Given the description of an element on the screen output the (x, y) to click on. 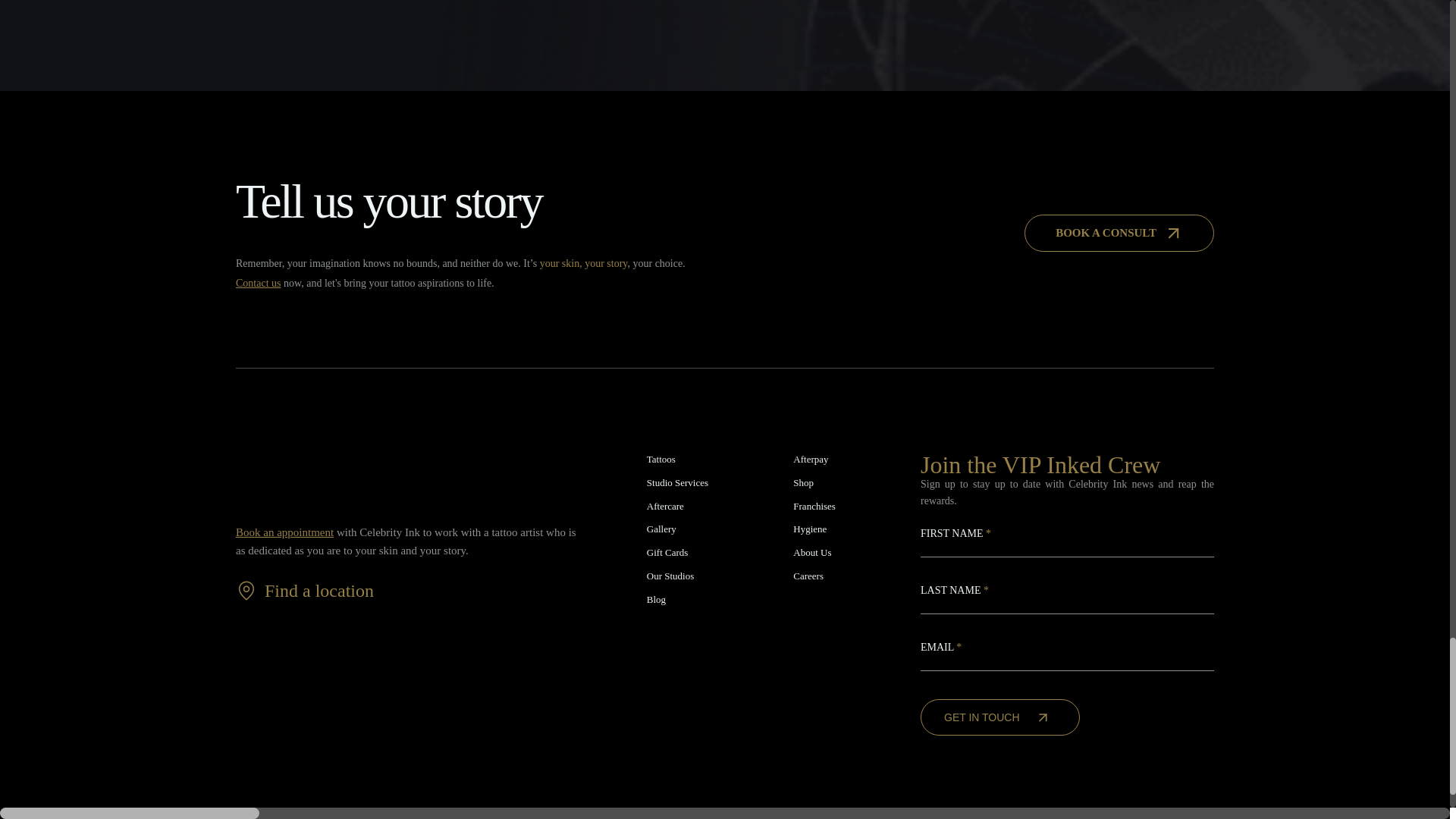
Get In Touch (1000, 717)
